Given the description of an element on the screen output the (x, y) to click on. 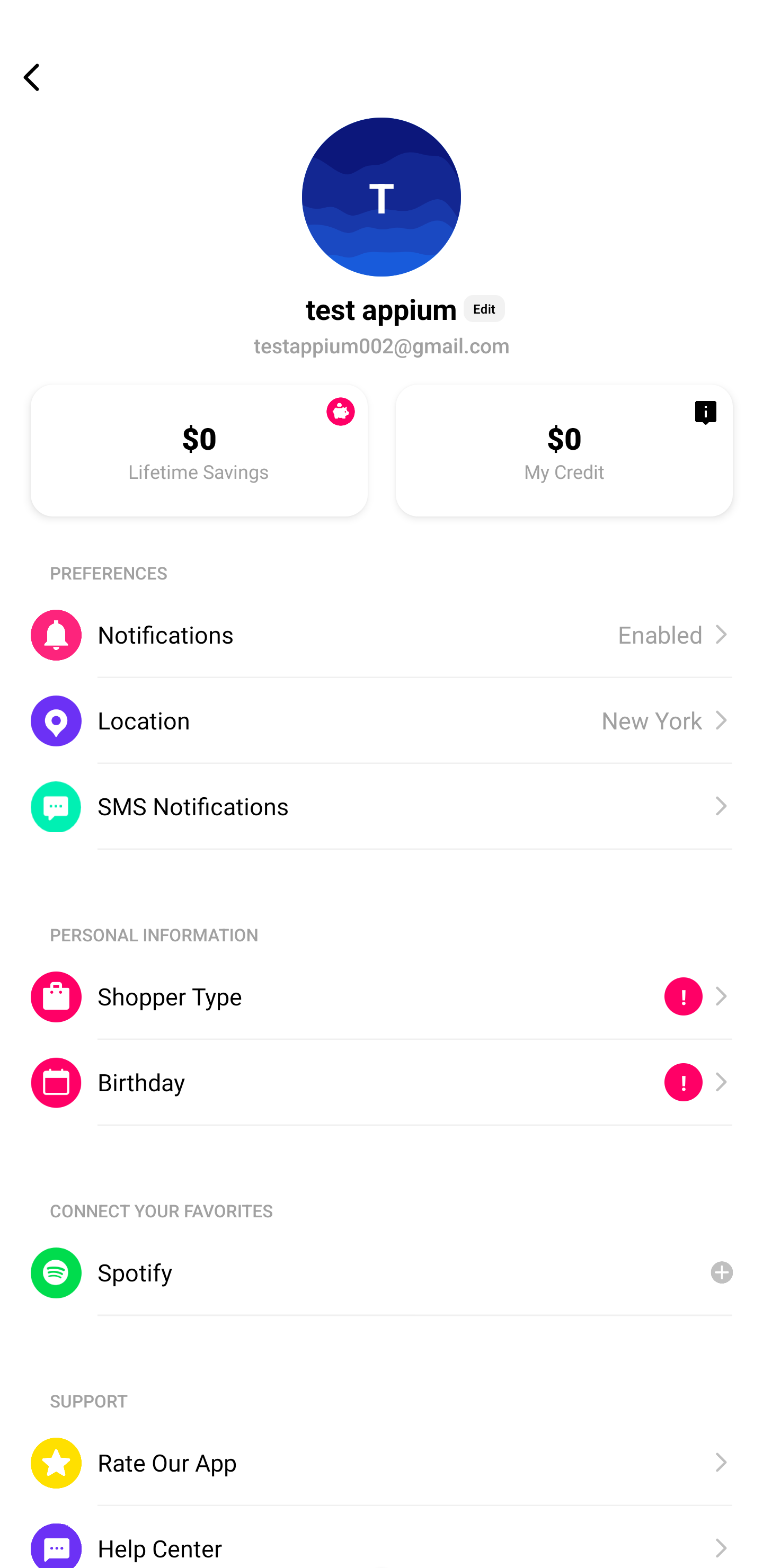
T (381, 196)
Edit (484, 307)
$0, Lifetime Savings $0 Lifetime Savings (198, 449)
$0, My Credit $0 My Credit (563, 449)
Location, New York Location New York (381, 720)
SMS Notifications,    SMS Notifications    (381, 806)
Shopper Type,   , ! Shopper Type    ! (381, 996)
Birthday,   , ! Birthday    ! (381, 1082)
Spotify,    Spotify    (381, 1272)
Rate Our App,    Rate Our App    (381, 1462)
Help Center,    Help Center    (381, 1536)
